Given the description of an element on the screen output the (x, y) to click on. 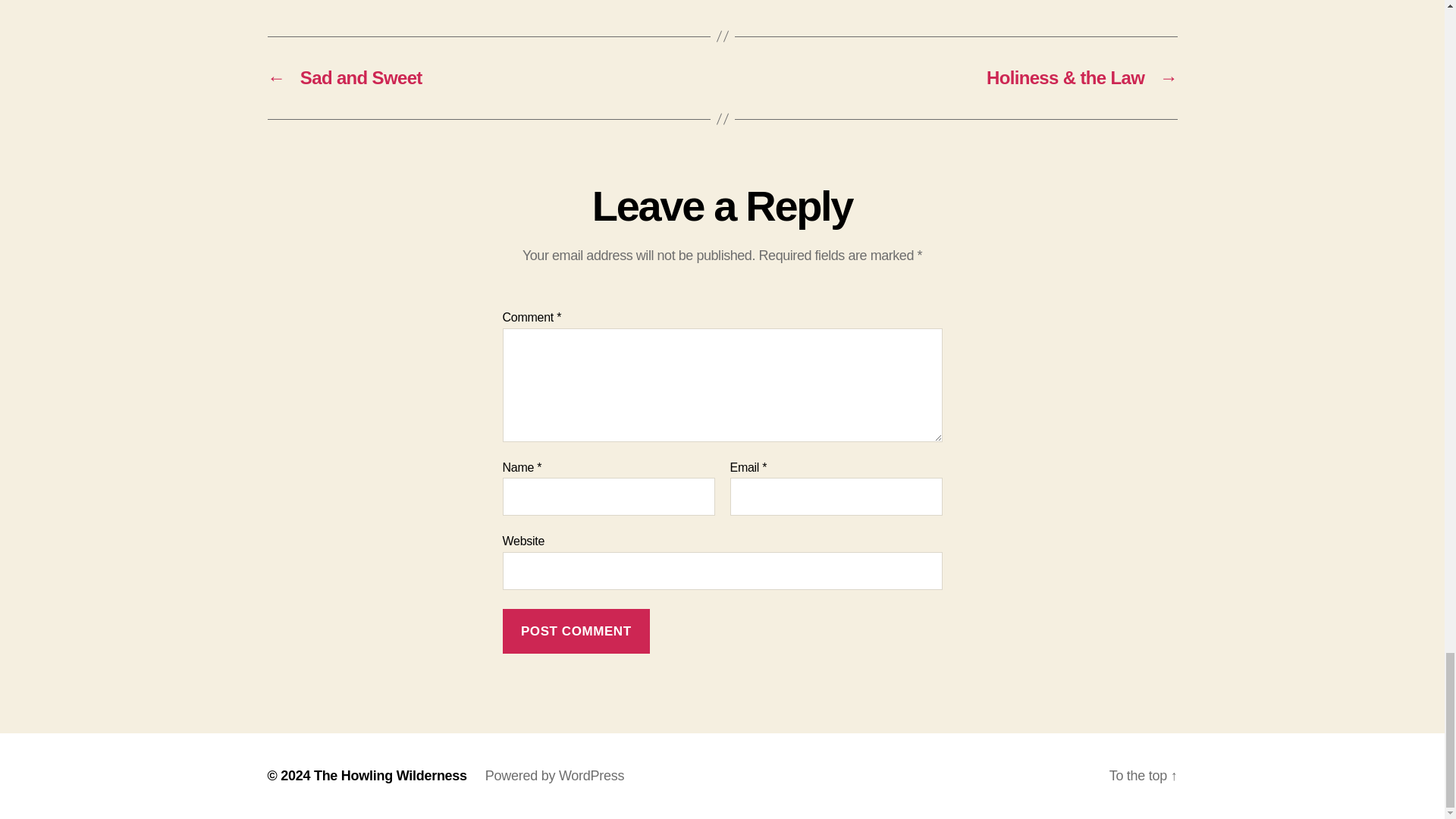
Post Comment (575, 631)
Powered by WordPress (554, 775)
The Howling Wilderness (390, 775)
Post Comment (575, 631)
